Given the description of an element on the screen output the (x, y) to click on. 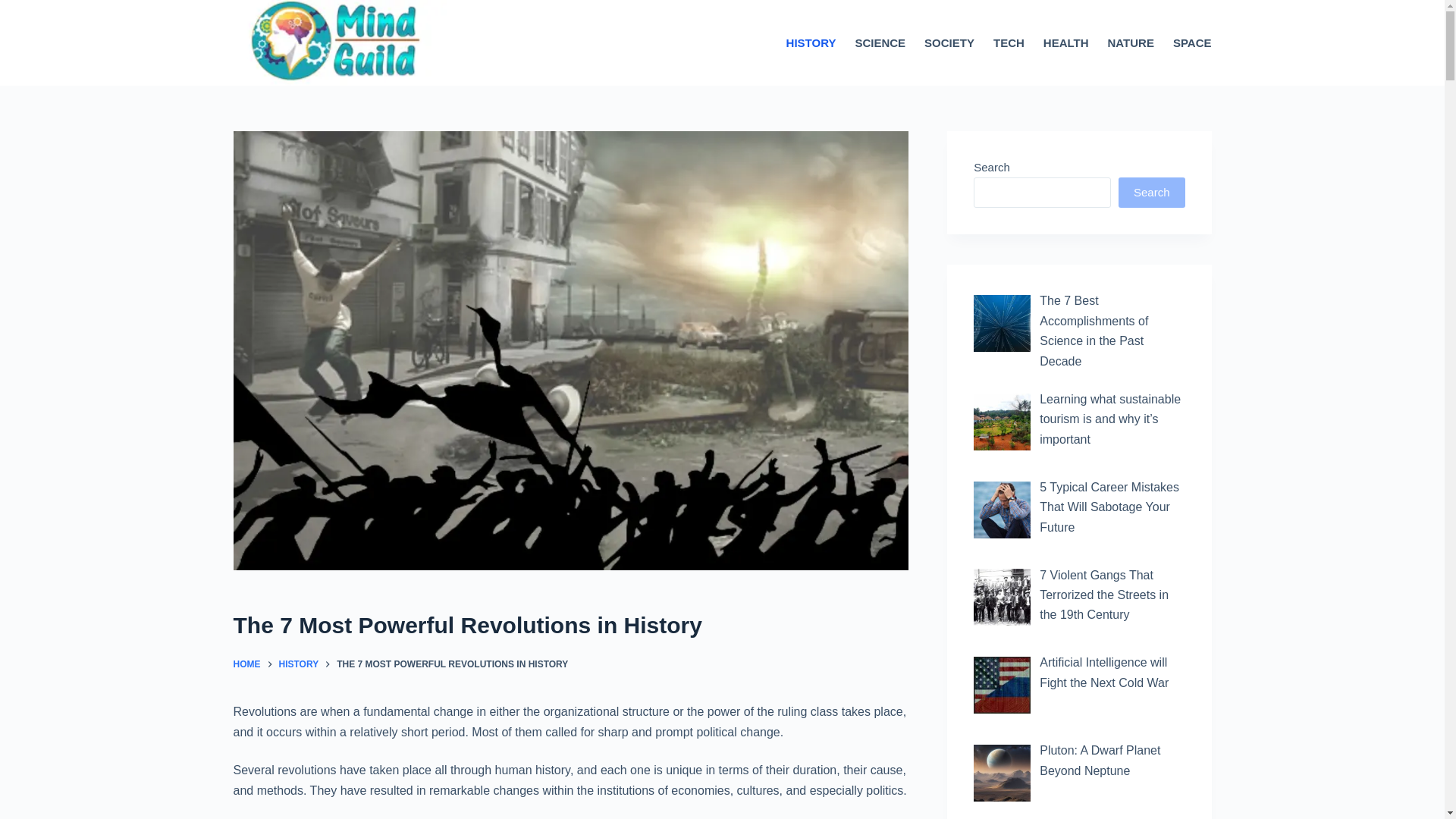
Search (1151, 192)
Artificial Intelligence will Fight the Next Cold War (1104, 672)
HOME (246, 664)
5 Typical Career Mistakes That Will Sabotage Your Future (1109, 506)
Pluton: A Dwarf Planet Beyond Neptune (1099, 759)
The 7 Best Accomplishments of Science in the Past Decade (1093, 330)
Skip to content (15, 7)
The 7 Most Powerful Revolutions in History (570, 625)
HISTORY (298, 664)
